Given the description of an element on the screen output the (x, y) to click on. 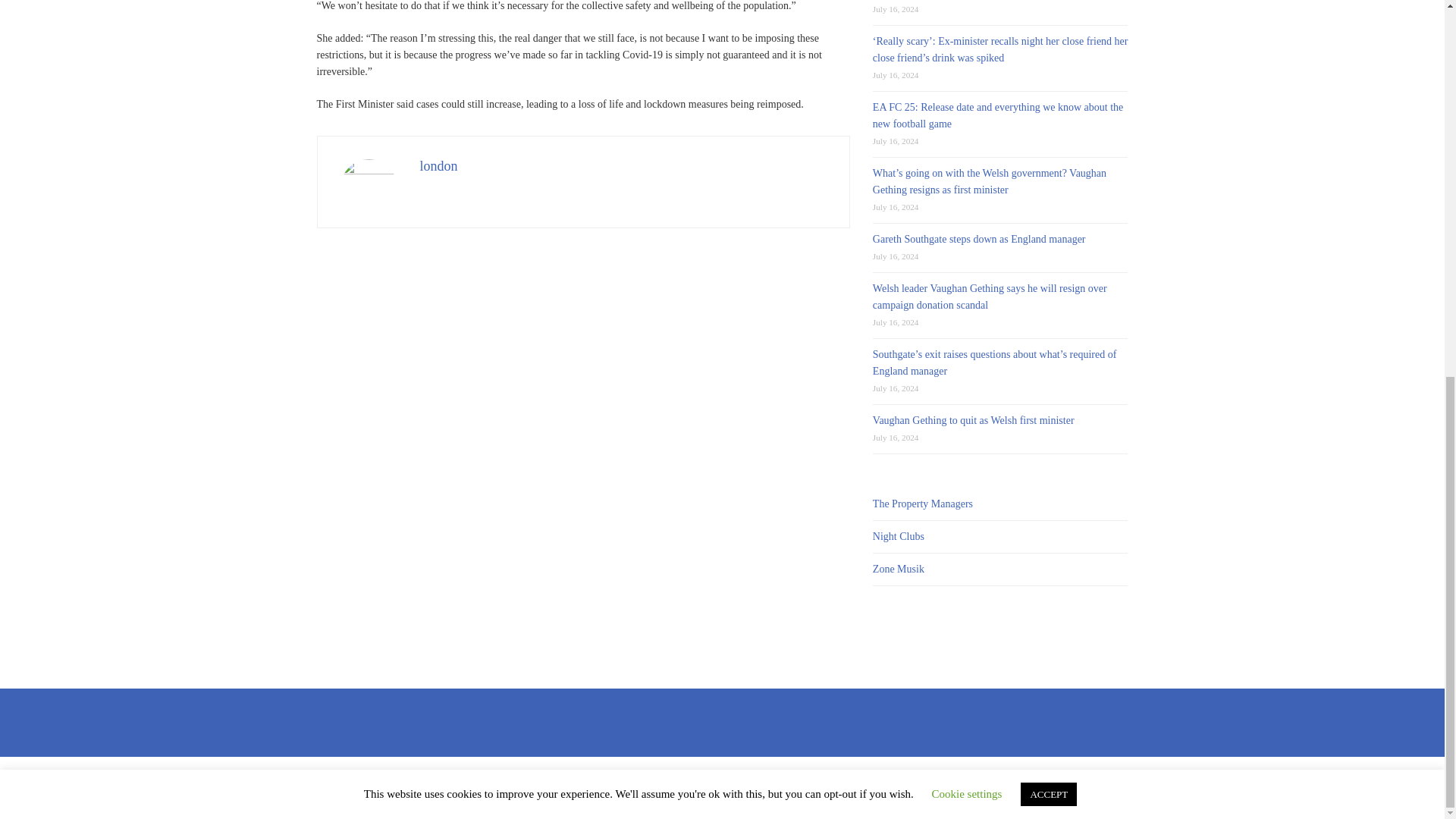
ACCEPT (1048, 97)
Cookie settings (967, 97)
london (439, 165)
Night Clubs (898, 536)
Vaughan Gething to quit as Welsh first minister (973, 419)
Zone Musik (898, 568)
The Property Managers (922, 503)
Gareth Southgate steps down as England manager (979, 238)
